Given the description of an element on the screen output the (x, y) to click on. 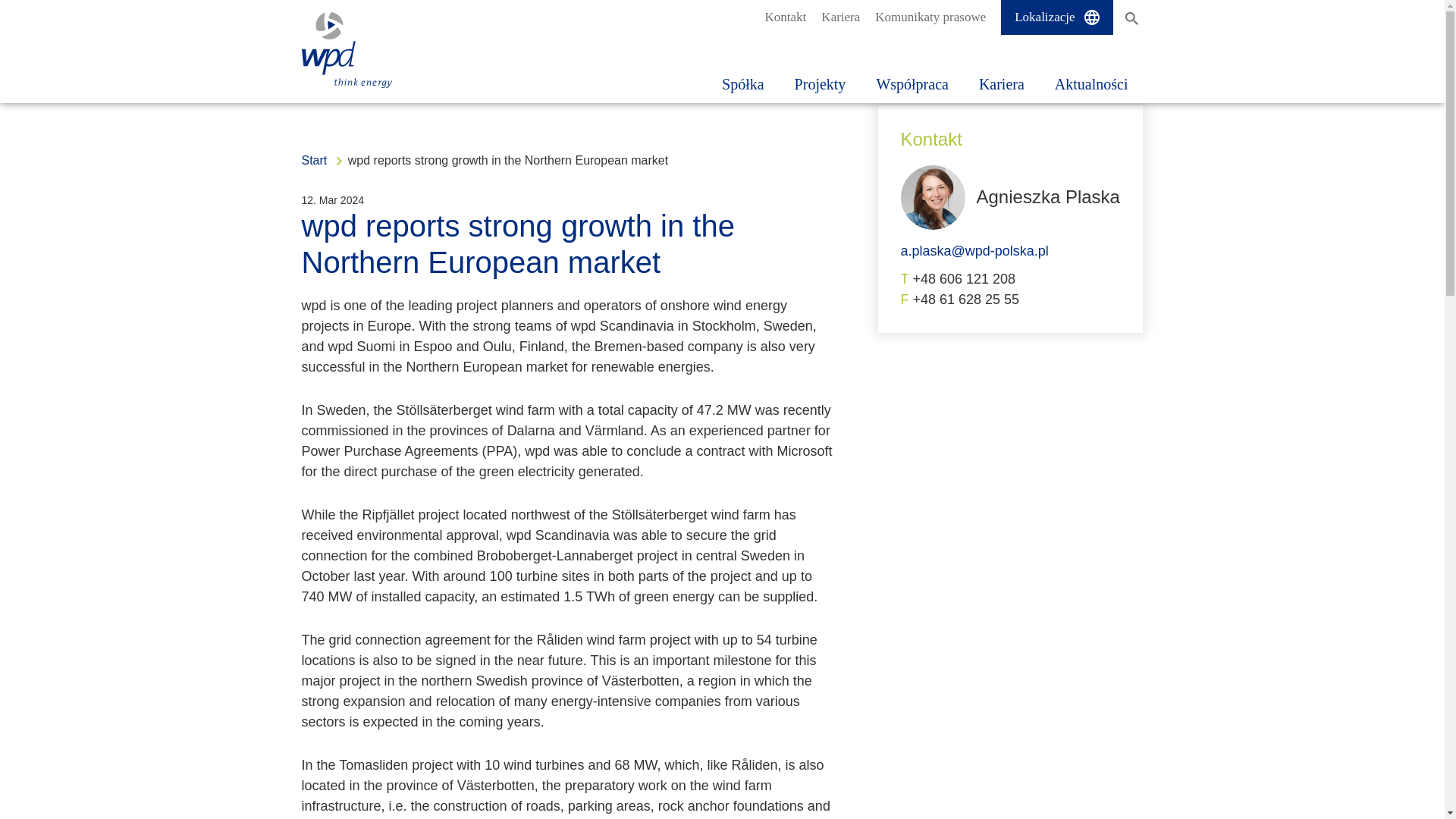
Komunikaty prasowe (929, 17)
Projekty (819, 69)
Kariera (840, 17)
Kontakt (785, 17)
Lokalizacje (1056, 17)
